Given the description of an element on the screen output the (x, y) to click on. 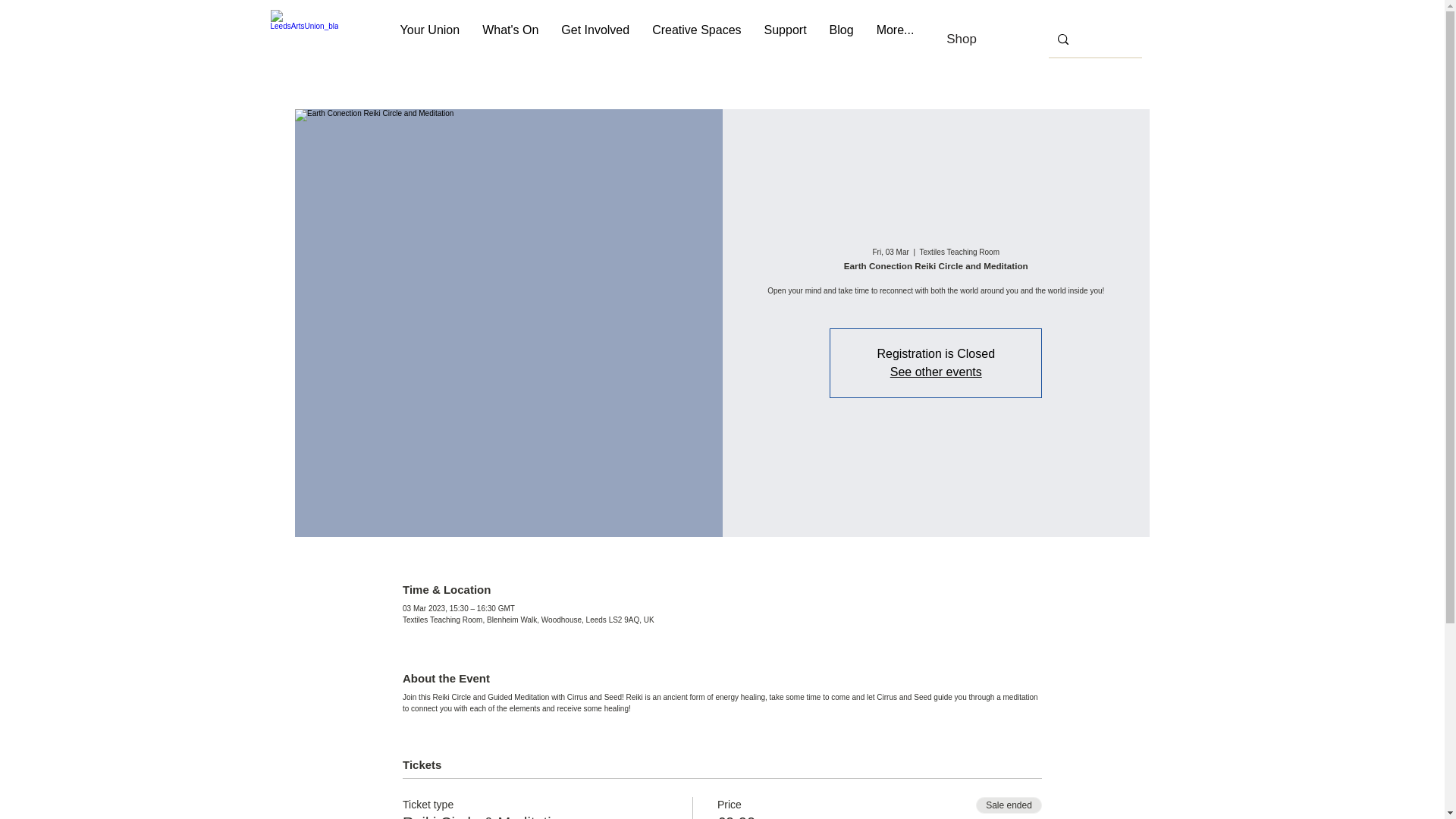
Shop (961, 38)
Get Involved (595, 39)
Your Union (429, 39)
Creative Spaces (696, 39)
See other events (935, 371)
Support (785, 39)
Blog (841, 39)
What's On (510, 39)
